Given the description of an element on the screen output the (x, y) to click on. 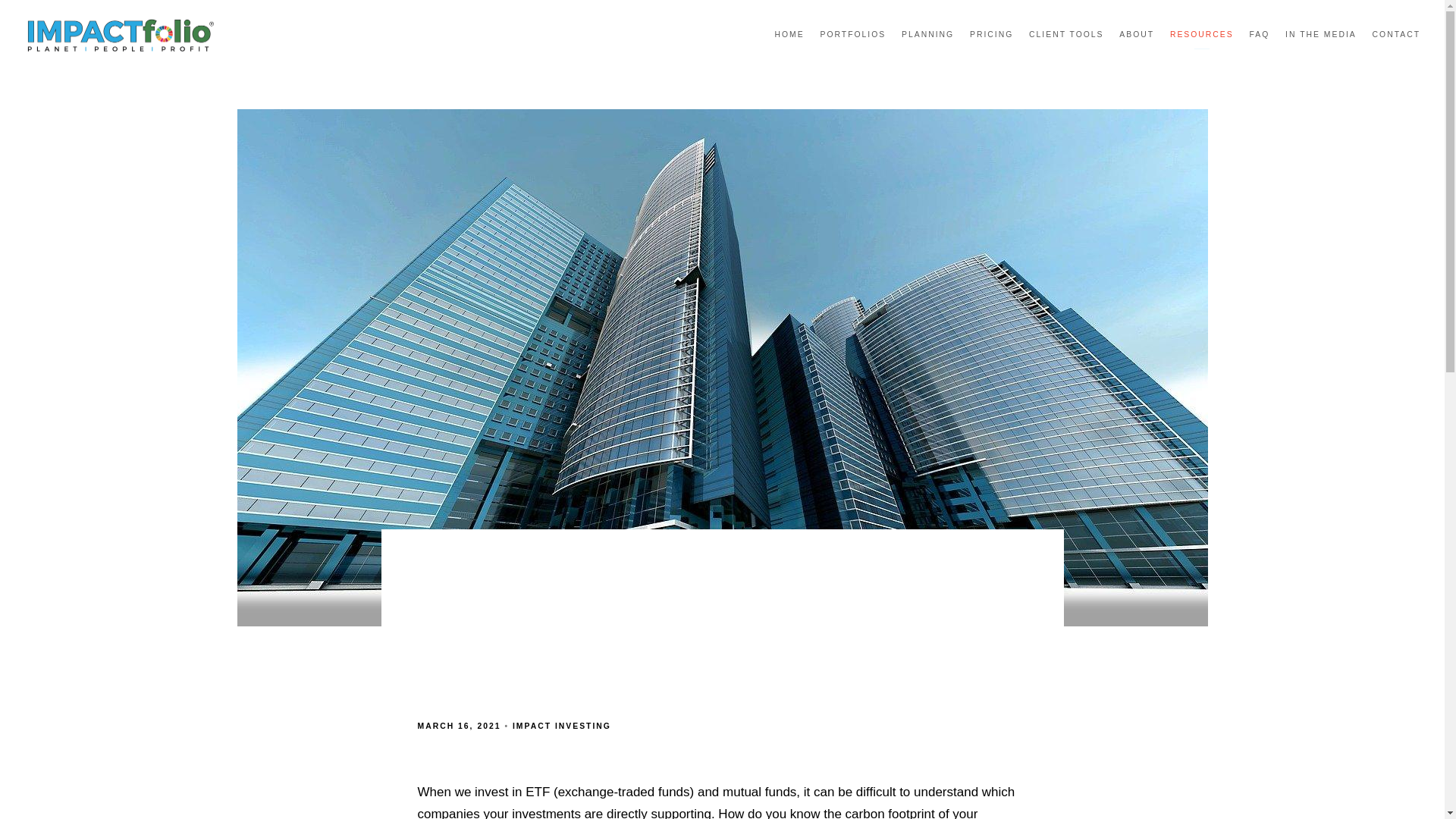
PLANNING (927, 34)
CONTACT (1397, 34)
CLIENT TOOLS (1066, 34)
PRICING (991, 34)
PORTFOLIOS (852, 34)
HOME (789, 34)
IMPACT INVESTING (561, 725)
ABOUT (1136, 34)
IN THE MEDIA (1320, 34)
RESOURCES (1201, 34)
FAQ (1259, 34)
